Given the description of an element on the screen output the (x, y) to click on. 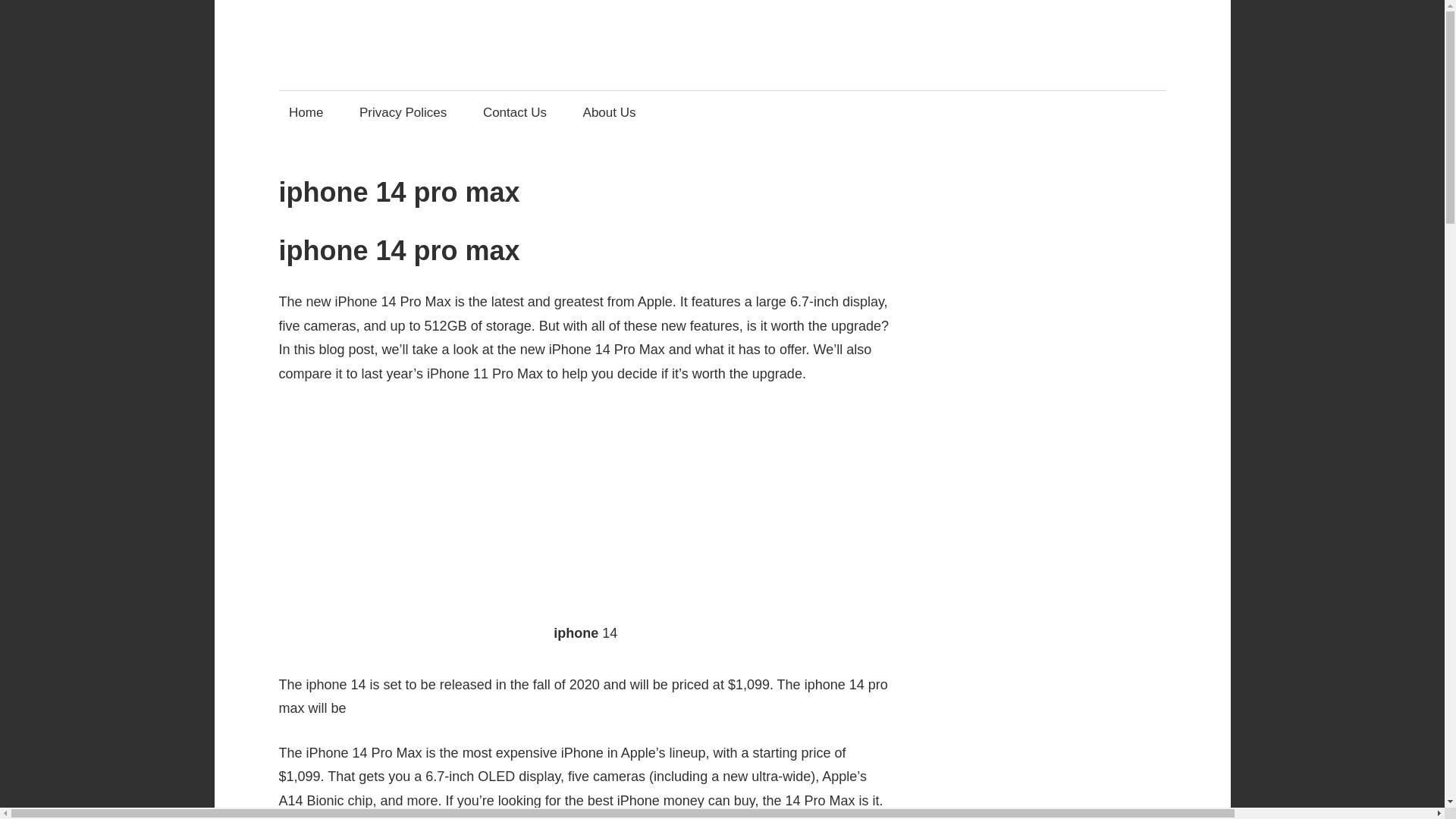
Contact Us (513, 112)
About Us (609, 112)
Home (306, 112)
Privacy Polices (403, 112)
